Given the description of an element on the screen output the (x, y) to click on. 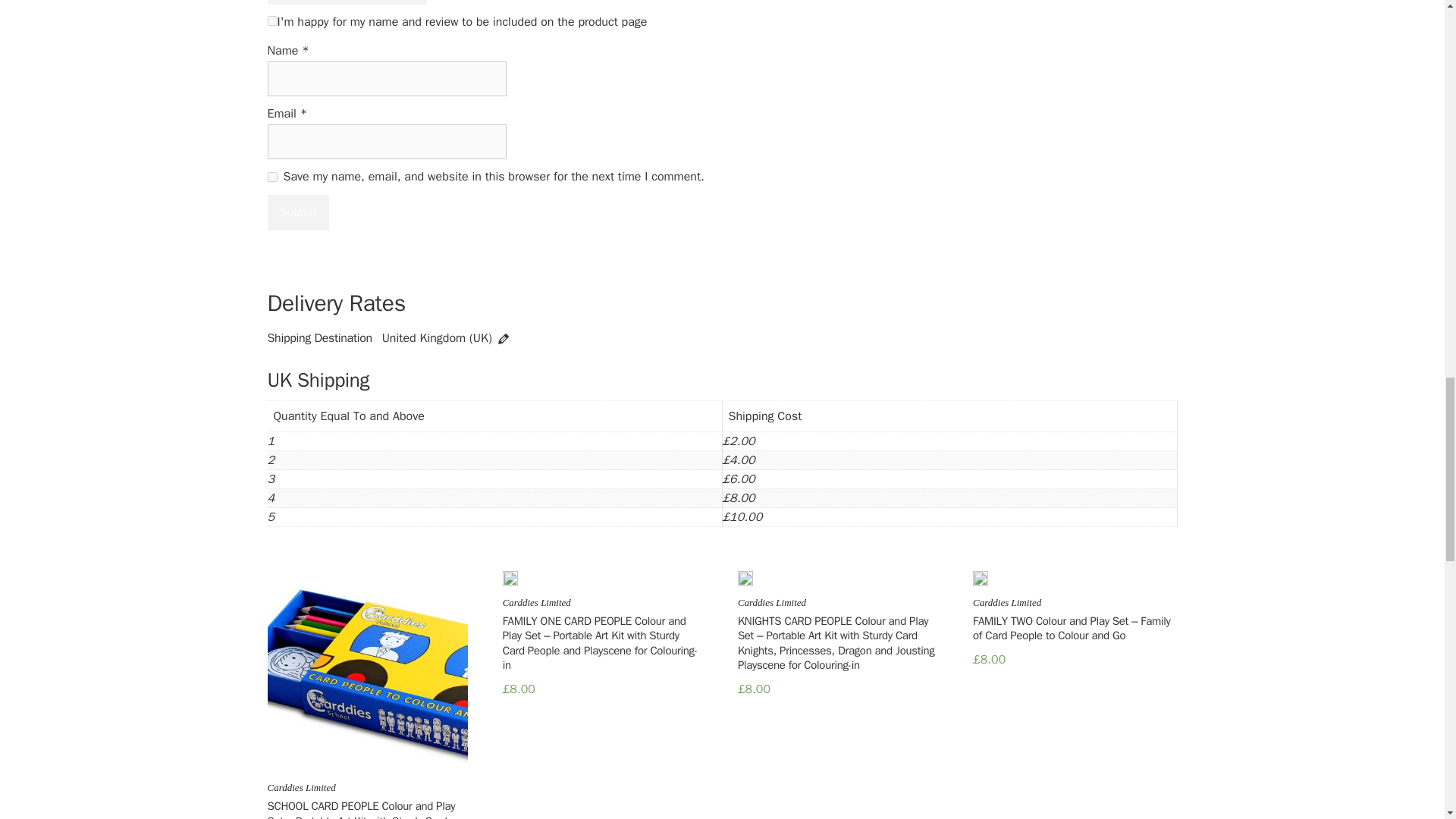
Change (503, 338)
on (271, 20)
yes (271, 176)
Submit (297, 212)
